Given the description of an element on the screen output the (x, y) to click on. 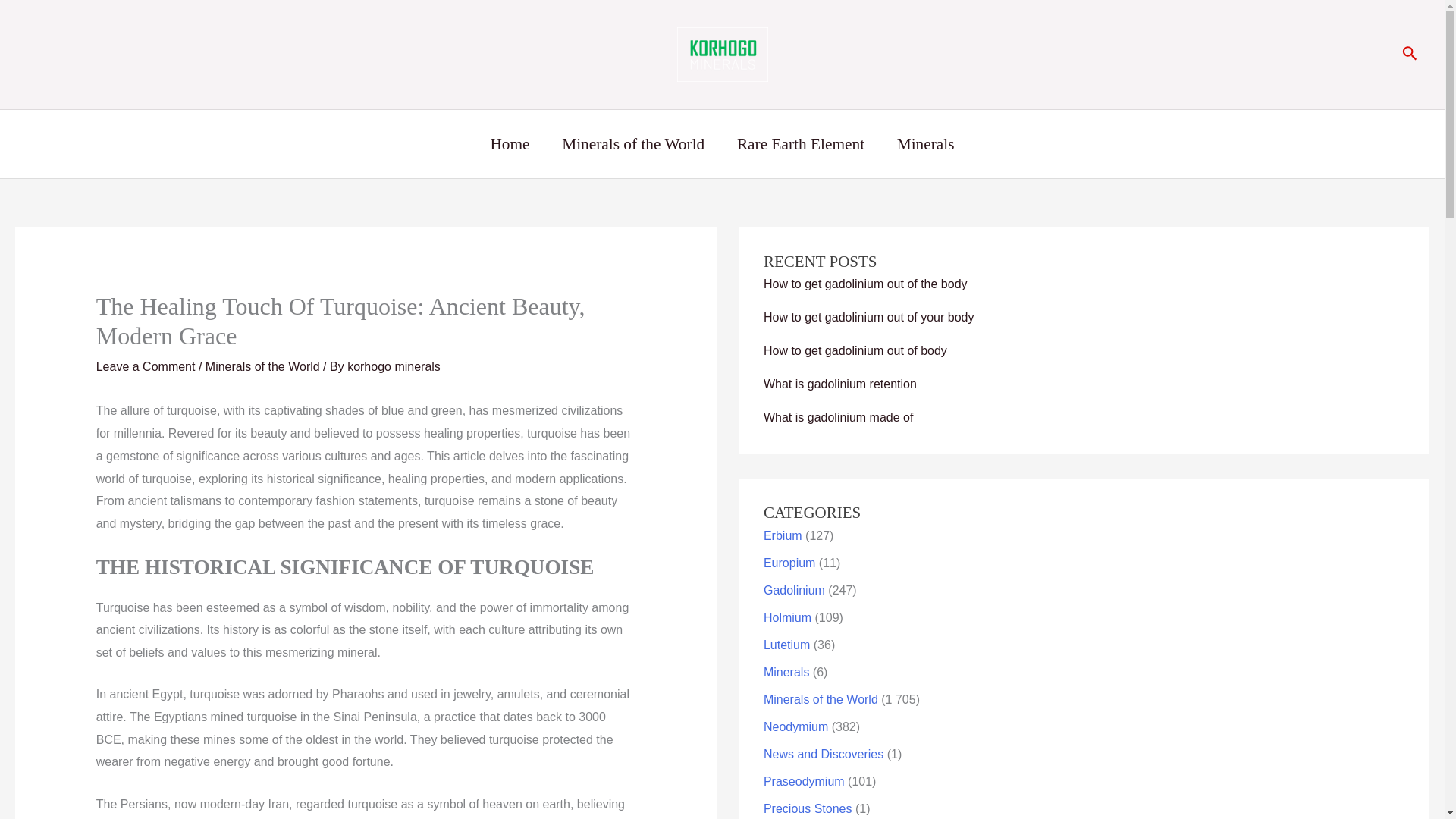
Minerals (785, 671)
Gadolinium (793, 590)
News and Discoveries (822, 753)
Minerals of the World (633, 143)
Holmium (786, 617)
Neodymium (795, 726)
What is gadolinium made of (837, 417)
Erbium (782, 535)
Lutetium (785, 644)
How to get gadolinium out of body (854, 350)
